Given the description of an element on the screen output the (x, y) to click on. 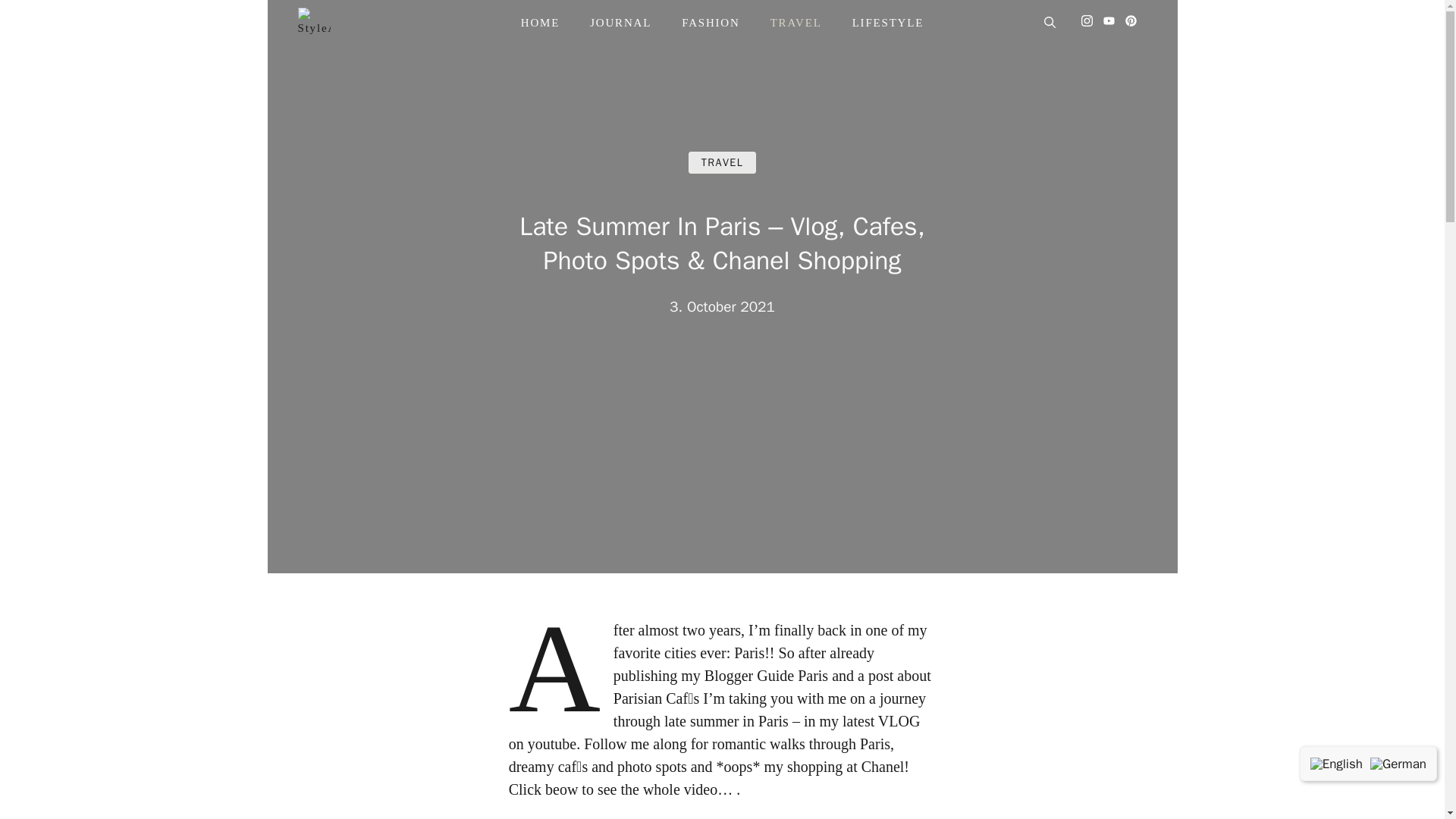
HOME (540, 22)
FASHION (710, 22)
Blogger Guide Paris (767, 675)
LIFESTYLE (888, 22)
JOURNAL (620, 22)
TRAVEL (722, 162)
TRAVEL (796, 22)
